Given the description of an element on the screen output the (x, y) to click on. 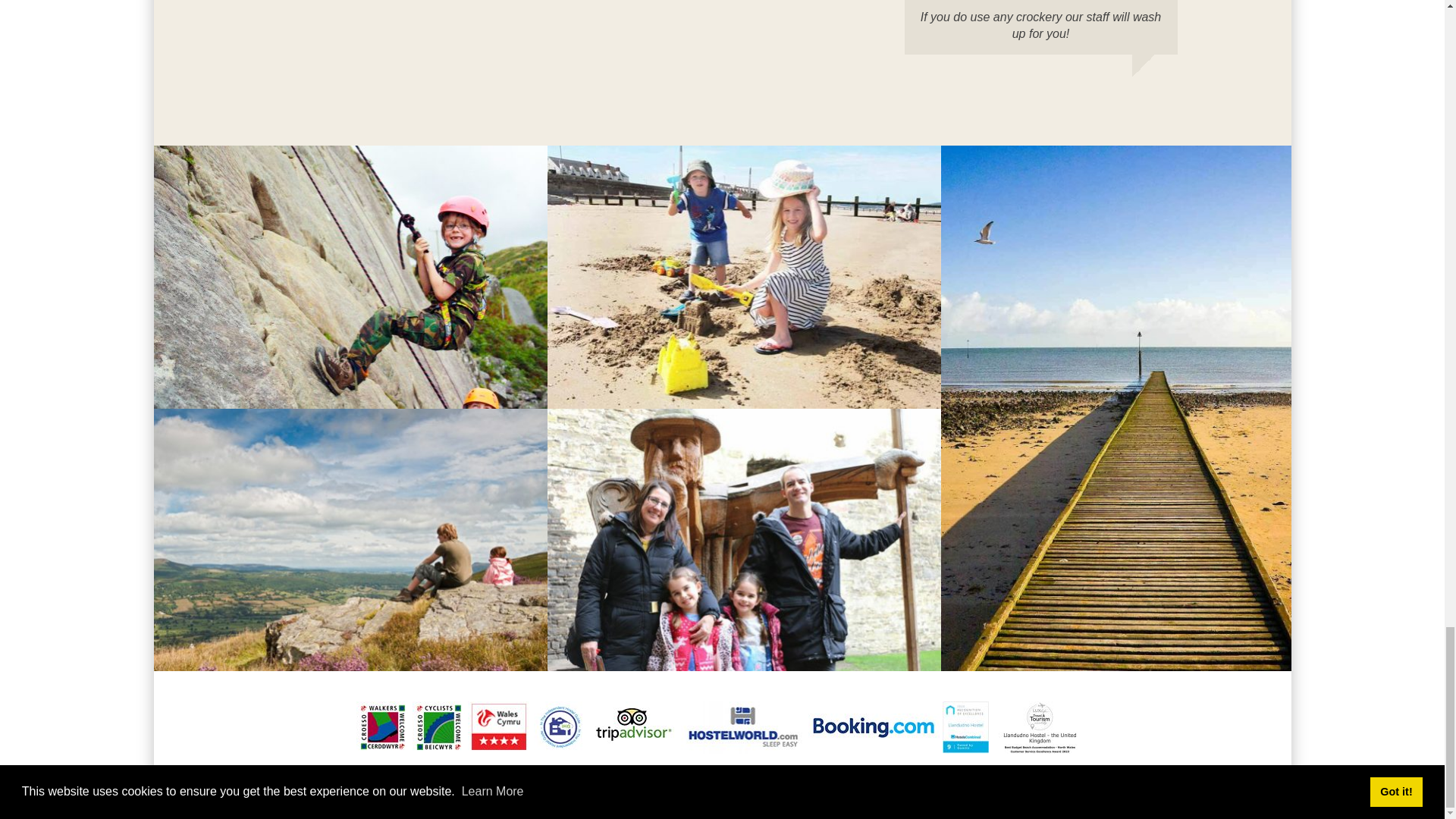
VIEW CREATIVE AGENCY (781, 780)
